Given the description of an element on the screen output the (x, y) to click on. 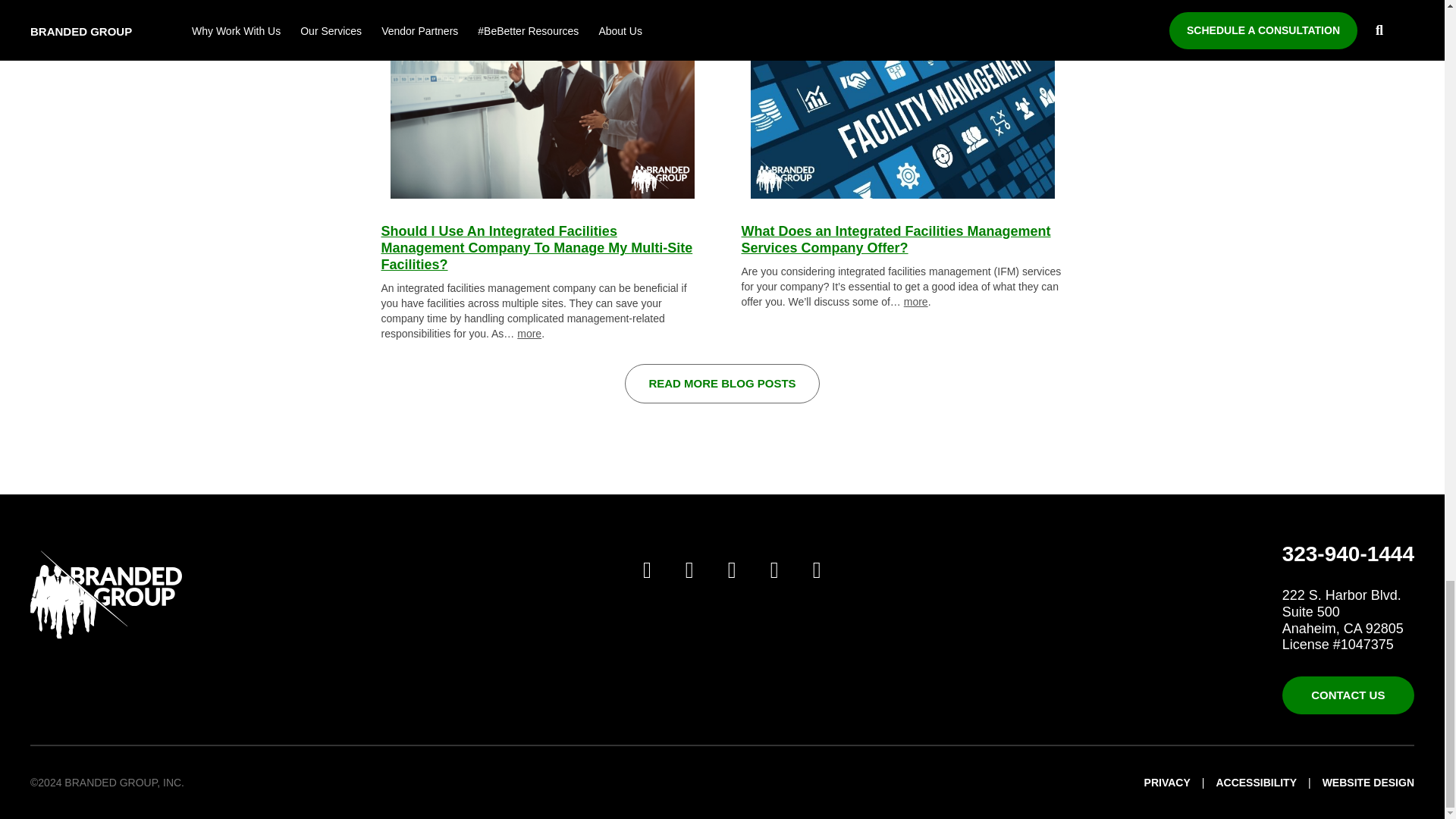
more (916, 301)
Website Design (1367, 782)
Contact Us (1347, 695)
Call Branded Group (1347, 554)
ACCESSIBILITY (1256, 782)
Branded Group Homepage (106, 594)
Accessibility (1256, 782)
Privacy (1167, 782)
more (528, 333)
